Given the description of an element on the screen output the (x, y) to click on. 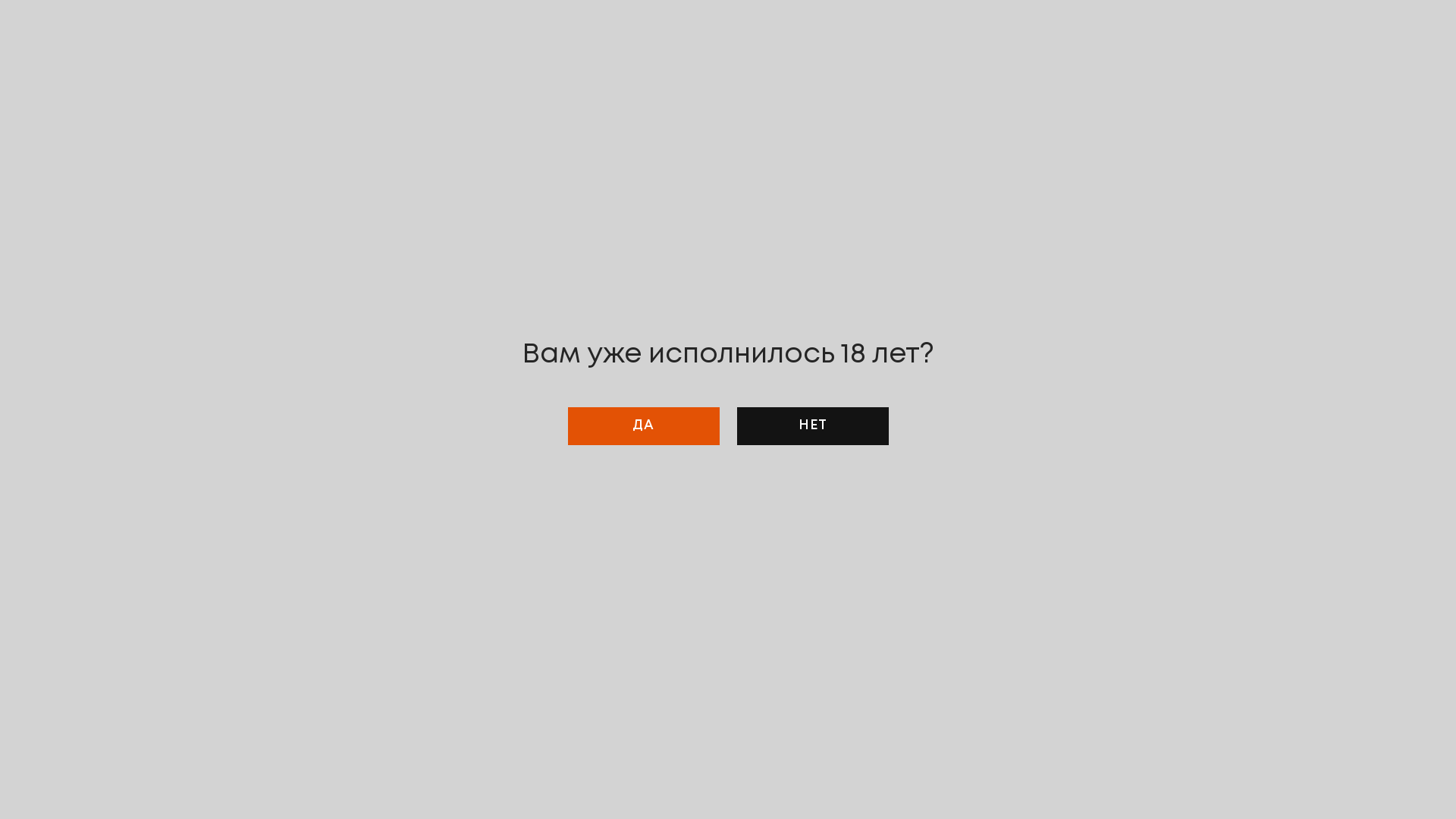
8-017-360-8-211 Element type: text (1044, 769)
7947 Element type: text (611, 807)
8-017-318-1-333 Element type: text (969, 769)
